Given the description of an element on the screen output the (x, y) to click on. 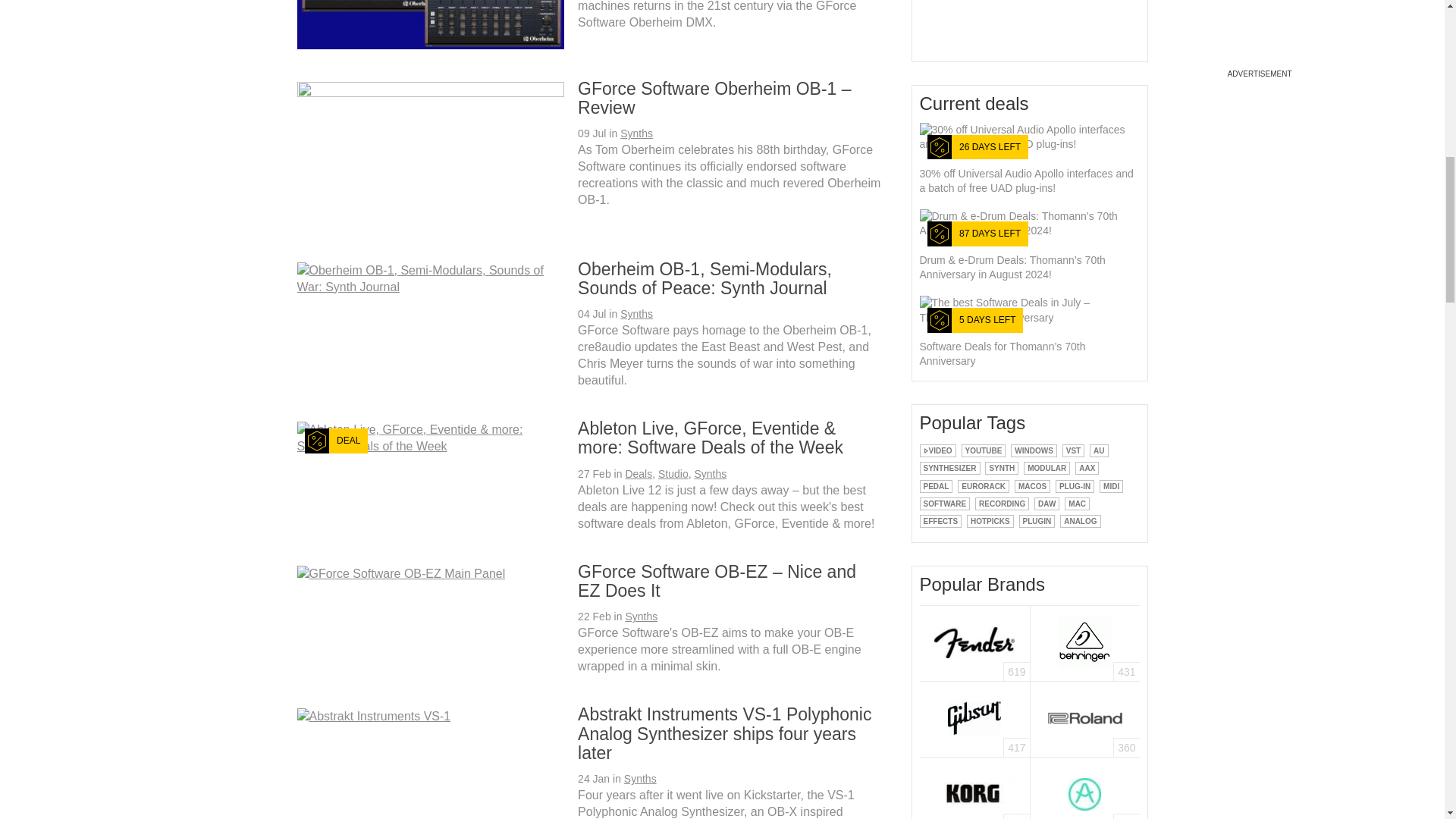
View all Posts in Video (936, 450)
View all Posts in MIDI (1110, 485)
View all Posts in Windows (1033, 450)
View all Posts in VST (1073, 450)
View all Posts in plug-in (1074, 485)
View all Posts in Eurorack (983, 485)
View all Posts in AU (1098, 450)
View all Posts in AAX (1087, 467)
View all Posts in Pedal (935, 485)
View all Posts in MacOS (1031, 485)
View all Posts in Synthesizer (948, 467)
View all Posts in Synth (1001, 467)
View all Posts in YouTube (983, 450)
View all Posts in Software (943, 503)
View all Posts in Modular (1046, 467)
